Given the description of an element on the screen output the (x, y) to click on. 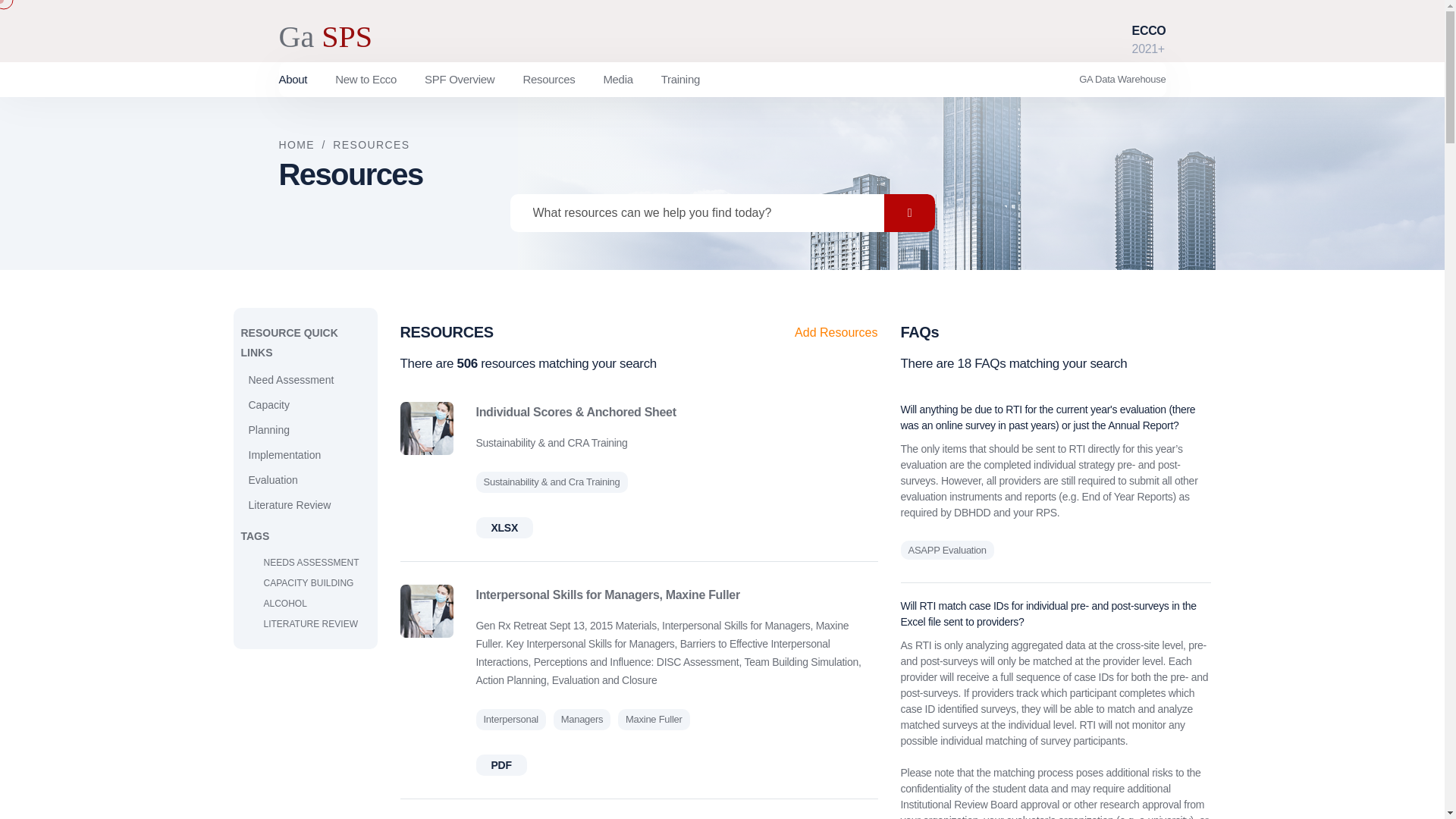
SPF Overview (460, 79)
GA Data Warehouse (1122, 79)
Media (616, 79)
About (293, 79)
New to Ecco (365, 79)
Resources (548, 79)
Ga SPS (325, 42)
Training (680, 79)
